Given the description of an element on the screen output the (x, y) to click on. 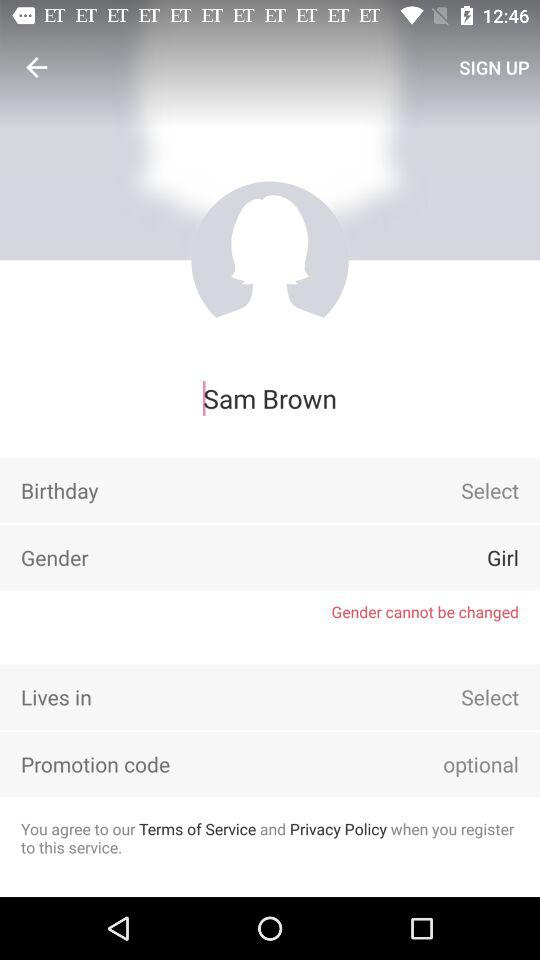
tap icon to the right of the promotion code (453, 764)
